Given the description of an element on the screen output the (x, y) to click on. 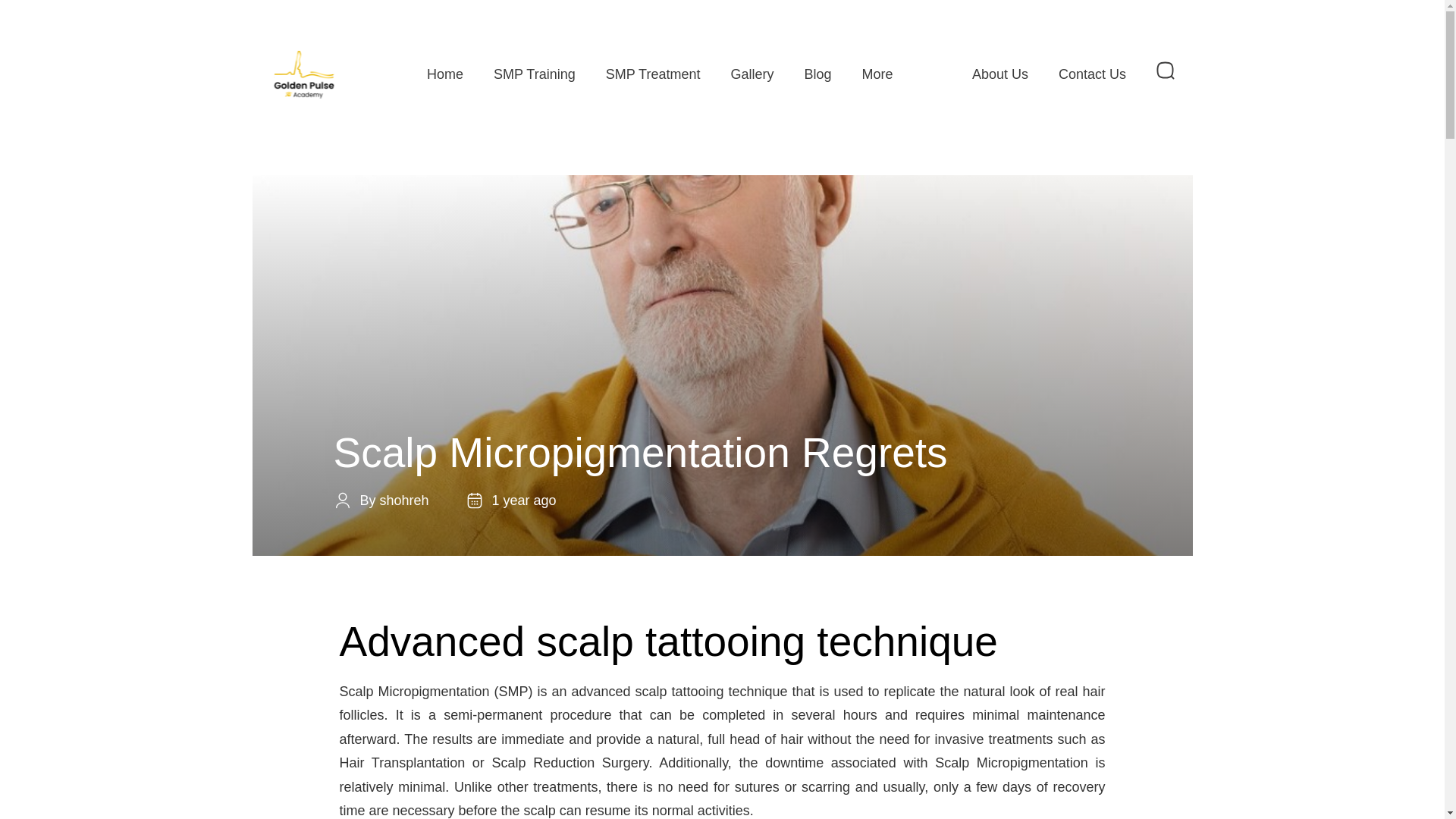
SMP Training (535, 73)
About Us (999, 73)
Gallery (751, 73)
Home (445, 73)
Contact Us (1092, 73)
SMP Treatment (653, 73)
More (880, 73)
Blog (817, 73)
